Given the description of an element on the screen output the (x, y) to click on. 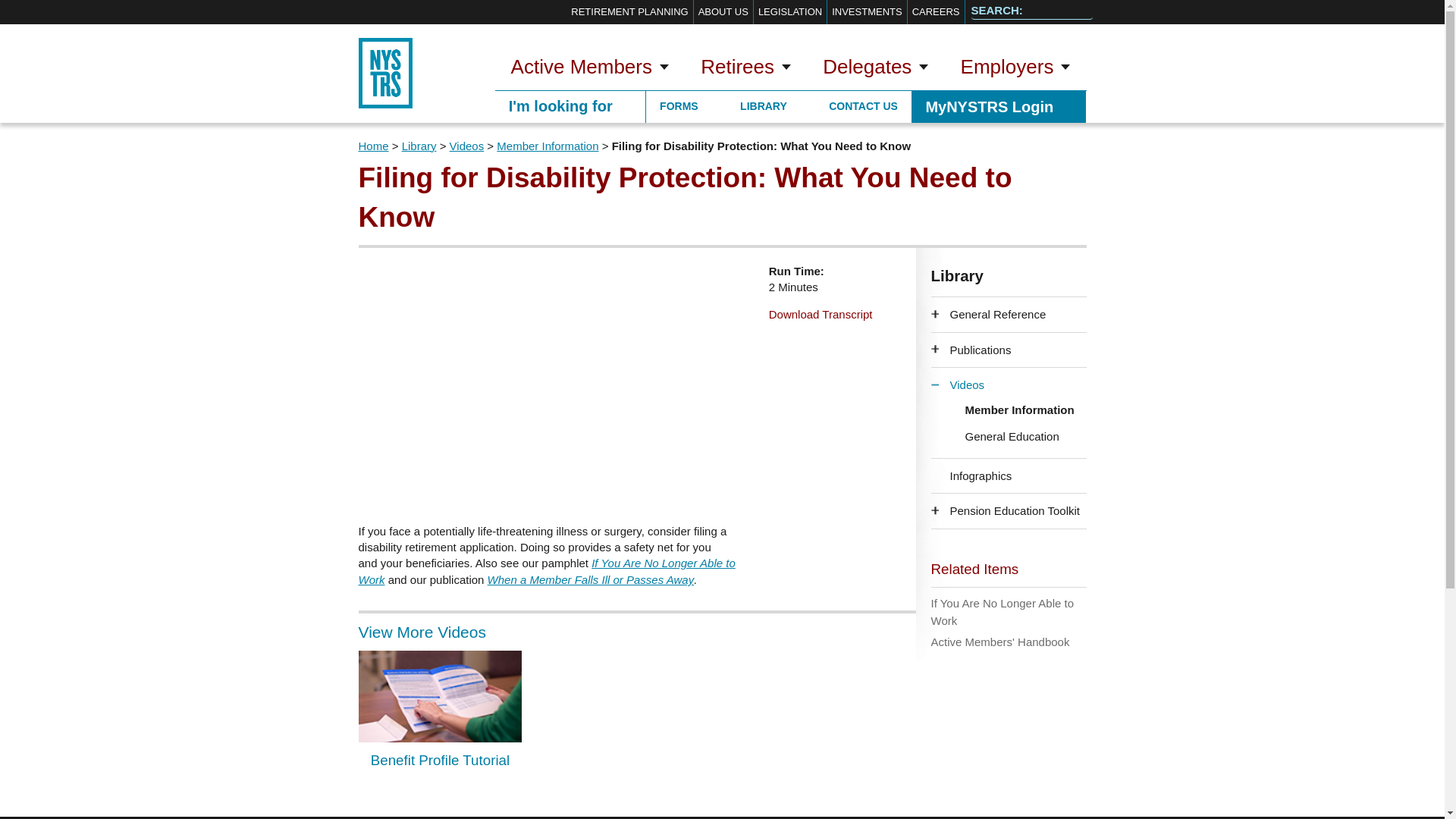
CAREERS (935, 12)
Delegates (874, 69)
Retirees (745, 69)
Filing for Disability Protection: What You Need to Know (555, 384)
Login (998, 106)
LEGISLATION (790, 12)
Submit search (1076, 12)
ABOUT US (723, 12)
Active Members (589, 69)
RETIREMENT PLANNING (629, 12)
